Given the description of an element on the screen output the (x, y) to click on. 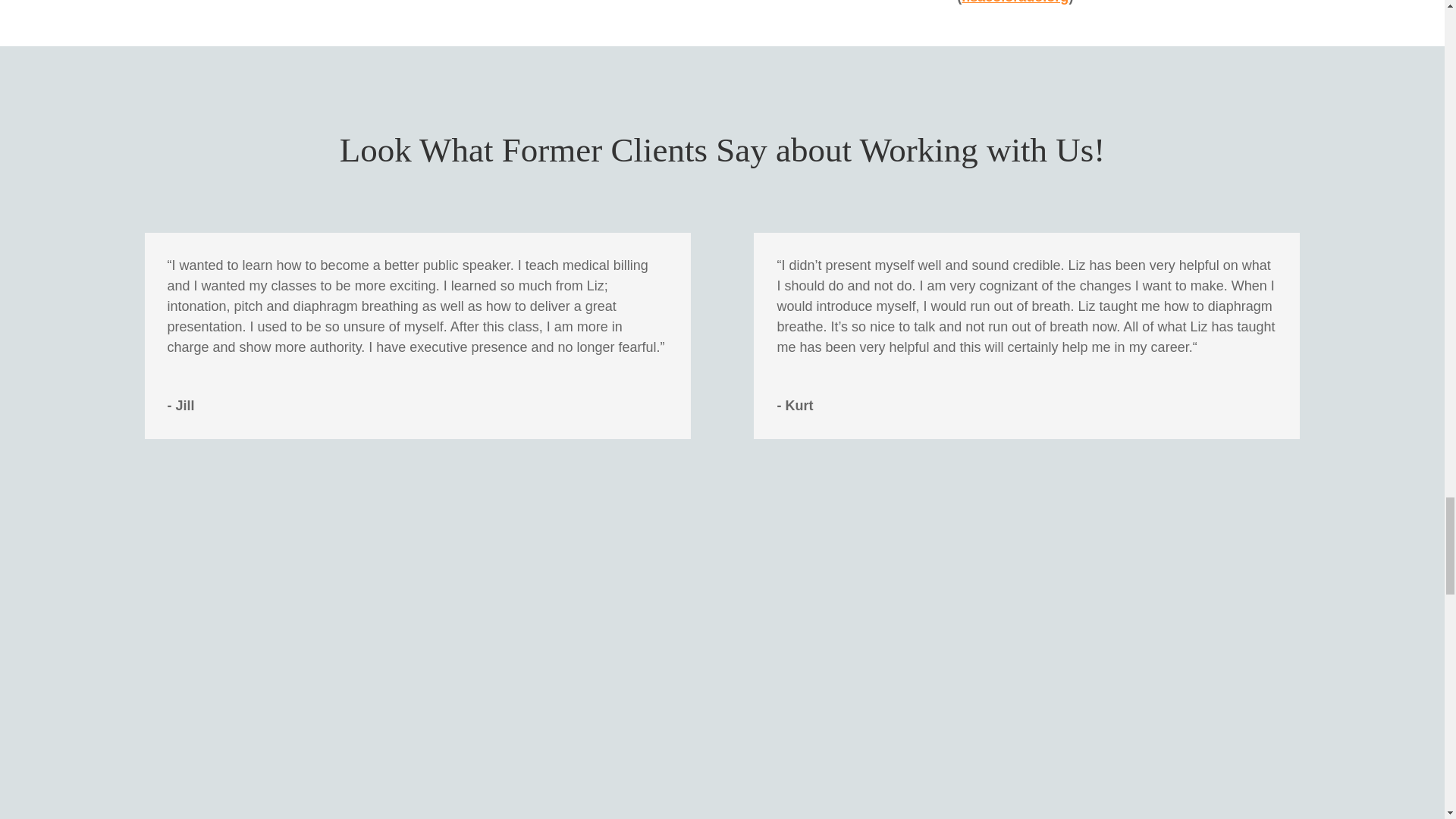
nsacolorado.org (1014, 2)
YouTube video player (965, 615)
